Given the description of an element on the screen output the (x, y) to click on. 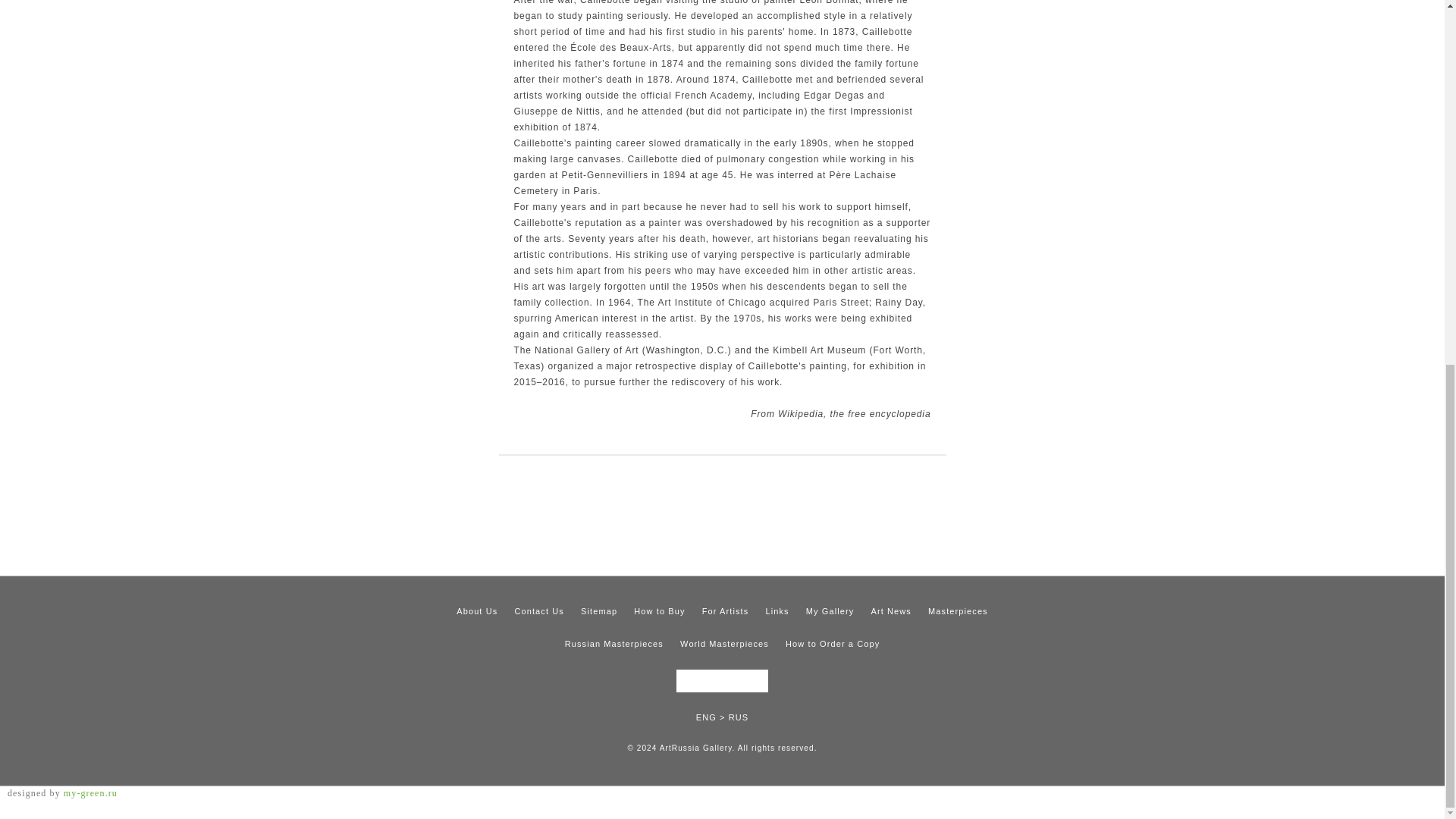
Links (777, 610)
Contact Us (538, 610)
LiveInternet (1427, 802)
Sitemap (598, 610)
World Masterpieces (723, 643)
My Gallery (830, 610)
Russian Masterpieces (613, 643)
Art News (890, 610)
How to Order a Copy (832, 643)
Masterpieces (958, 610)
How to Buy (658, 610)
About Us (477, 610)
For Artists (725, 610)
